Given the description of an element on the screen output the (x, y) to click on. 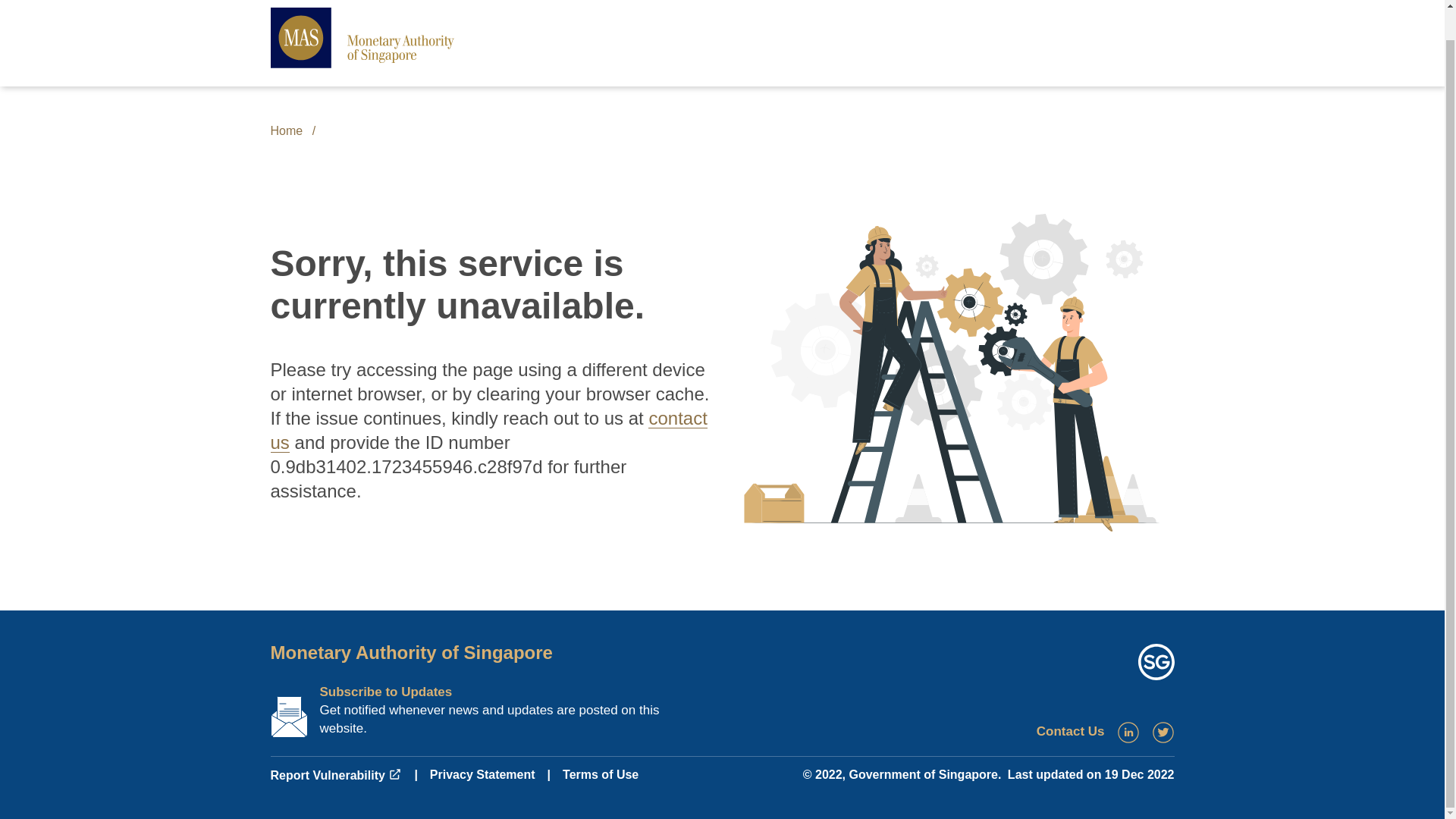
Terms of Use (600, 774)
Monetary Authority of Singapore (410, 652)
contact us (487, 429)
Report Vulnerability (335, 775)
Privacy Statement (482, 774)
Home (285, 130)
Contact Us (1070, 730)
